Given the description of an element on the screen output the (x, y) to click on. 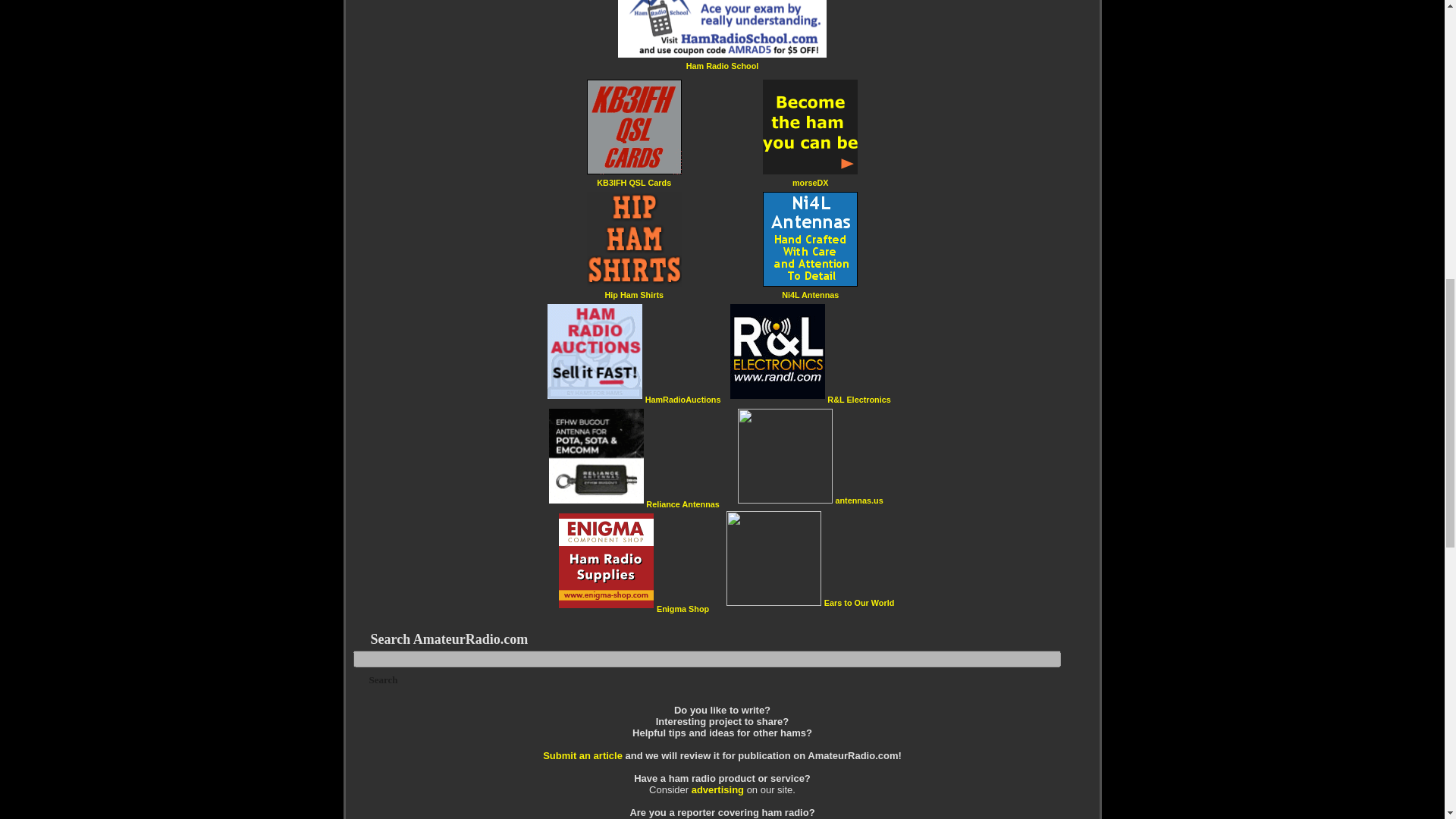
advertising (717, 789)
Search (383, 679)
Enigma Shop (682, 608)
Ni4L Antennas (809, 294)
Hip Ham Shirts (633, 294)
Ears to Our World (858, 602)
antennas.us (858, 500)
morseDX (810, 182)
Reliance Antennas (682, 503)
Search (383, 679)
KB3IFH QSL Cards (633, 182)
Ham Radio School (721, 65)
Submit an article (583, 755)
HamRadioAuctions (682, 398)
